Given the description of an element on the screen output the (x, y) to click on. 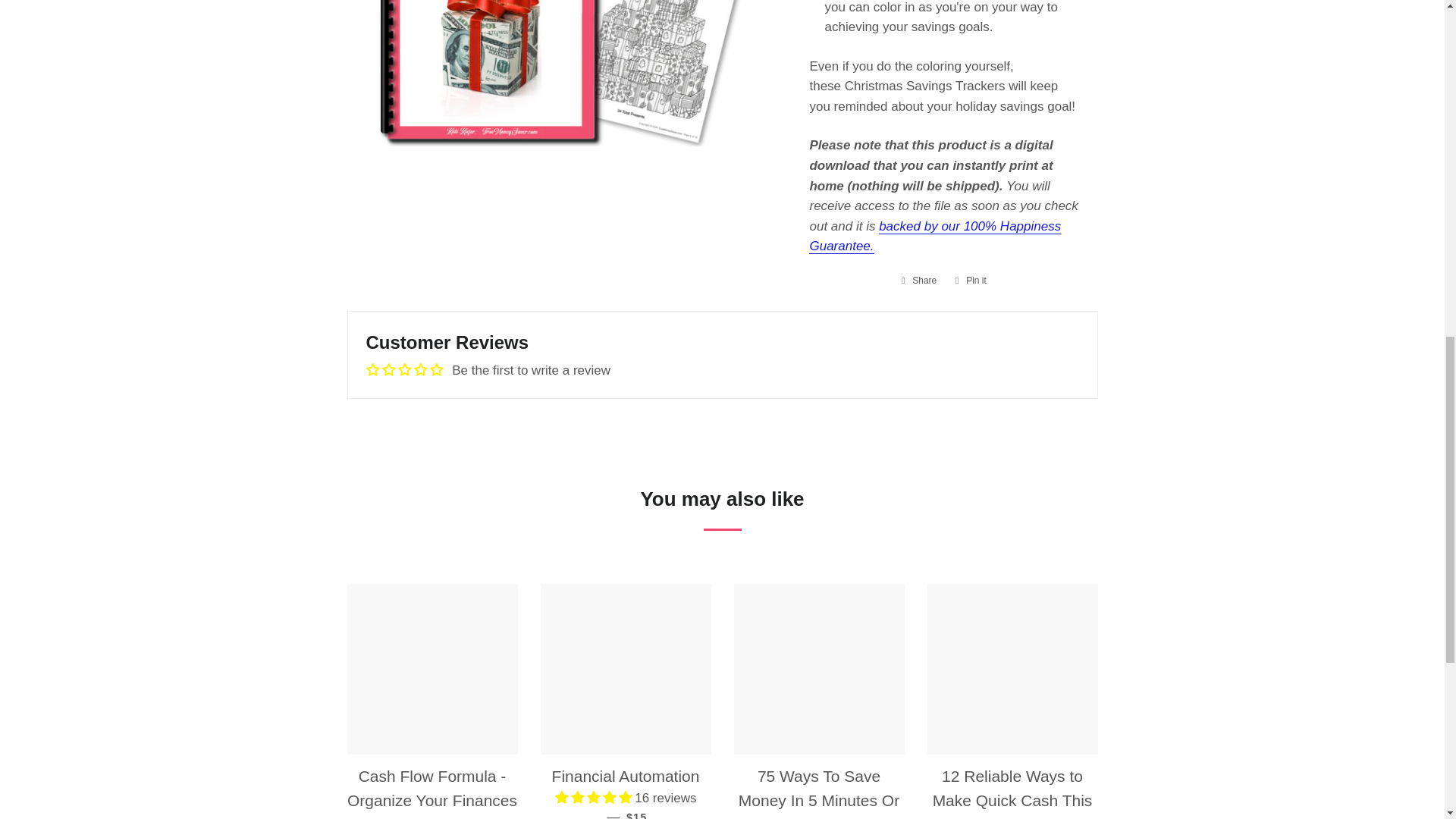
Pin on Pinterest (970, 280)
Share on Facebook (918, 280)
